Given the description of an element on the screen output the (x, y) to click on. 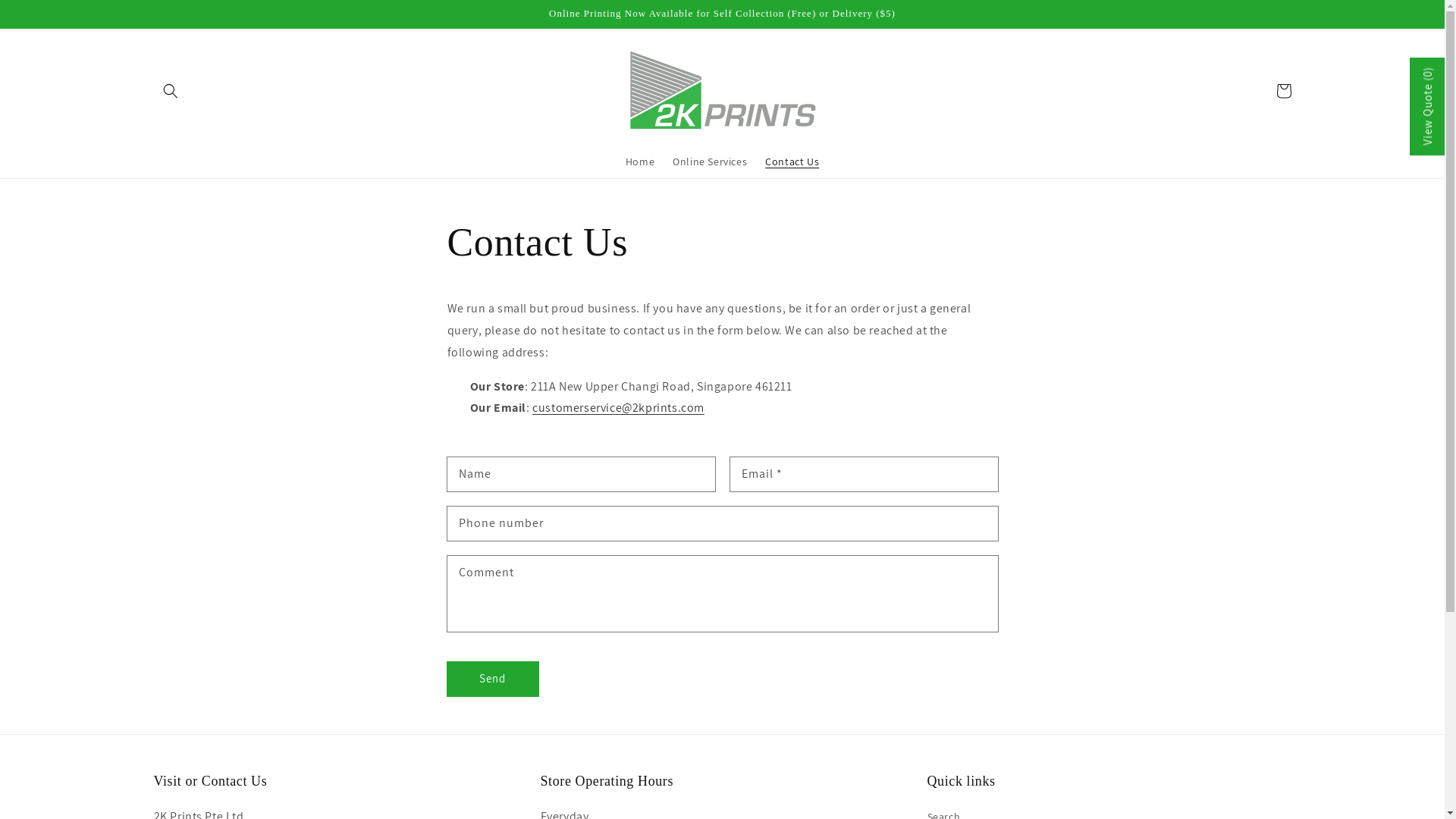
Contact Us Element type: text (792, 161)
Cart Element type: text (1282, 90)
Online Services Element type: text (709, 161)
Home Element type: text (639, 161)
Send Element type: text (492, 679)
customerservice@2kprints.com Element type: text (618, 407)
